Given the description of an element on the screen output the (x, y) to click on. 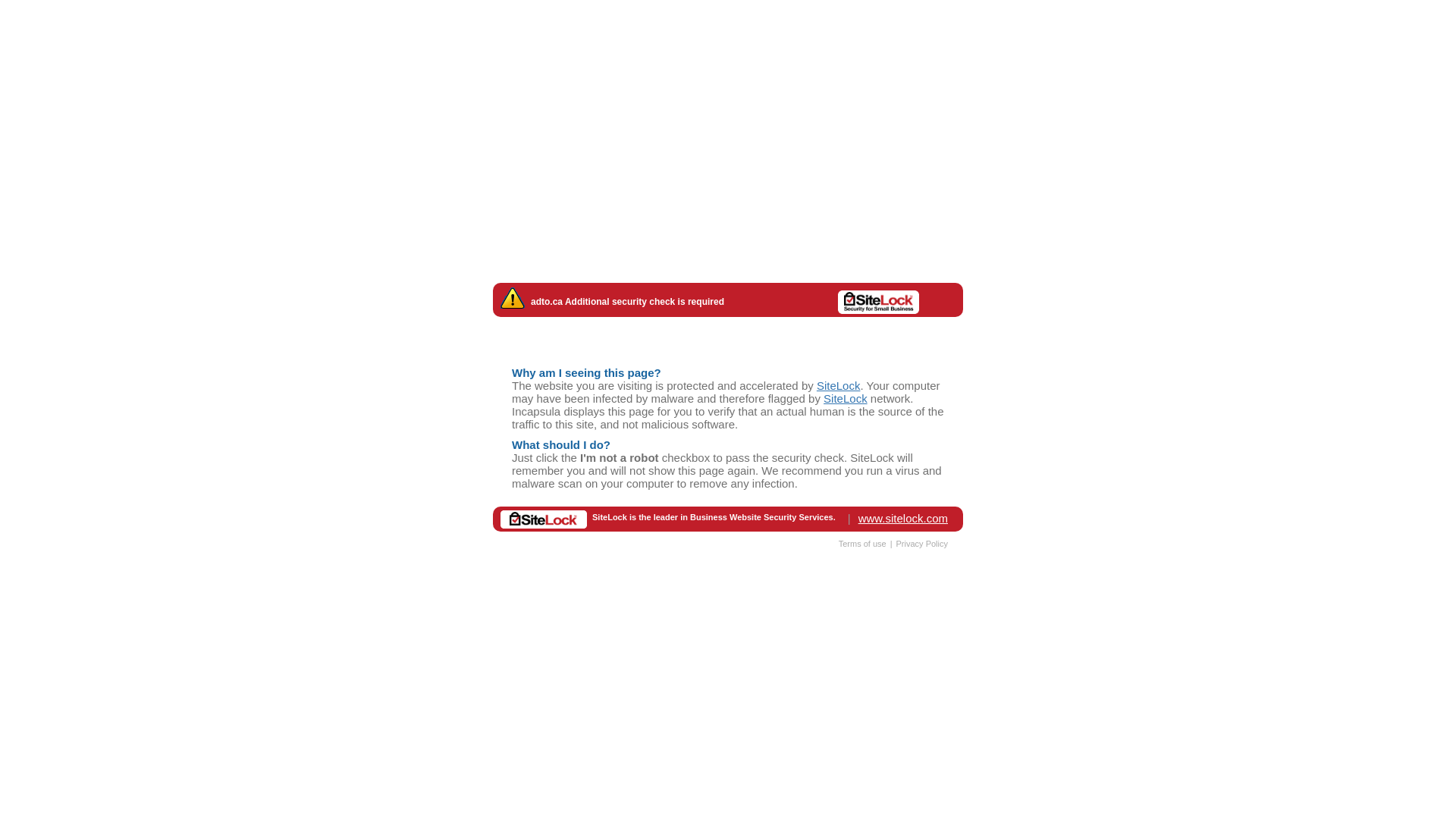
Privacy Policy Element type: text (921, 542)
Terms of use Element type: text (862, 542)
www.sitelock.com Element type: text (902, 517)
SiteLock Element type: text (845, 397)
SiteLock Element type: text (838, 385)
